Given the description of an element on the screen output the (x, y) to click on. 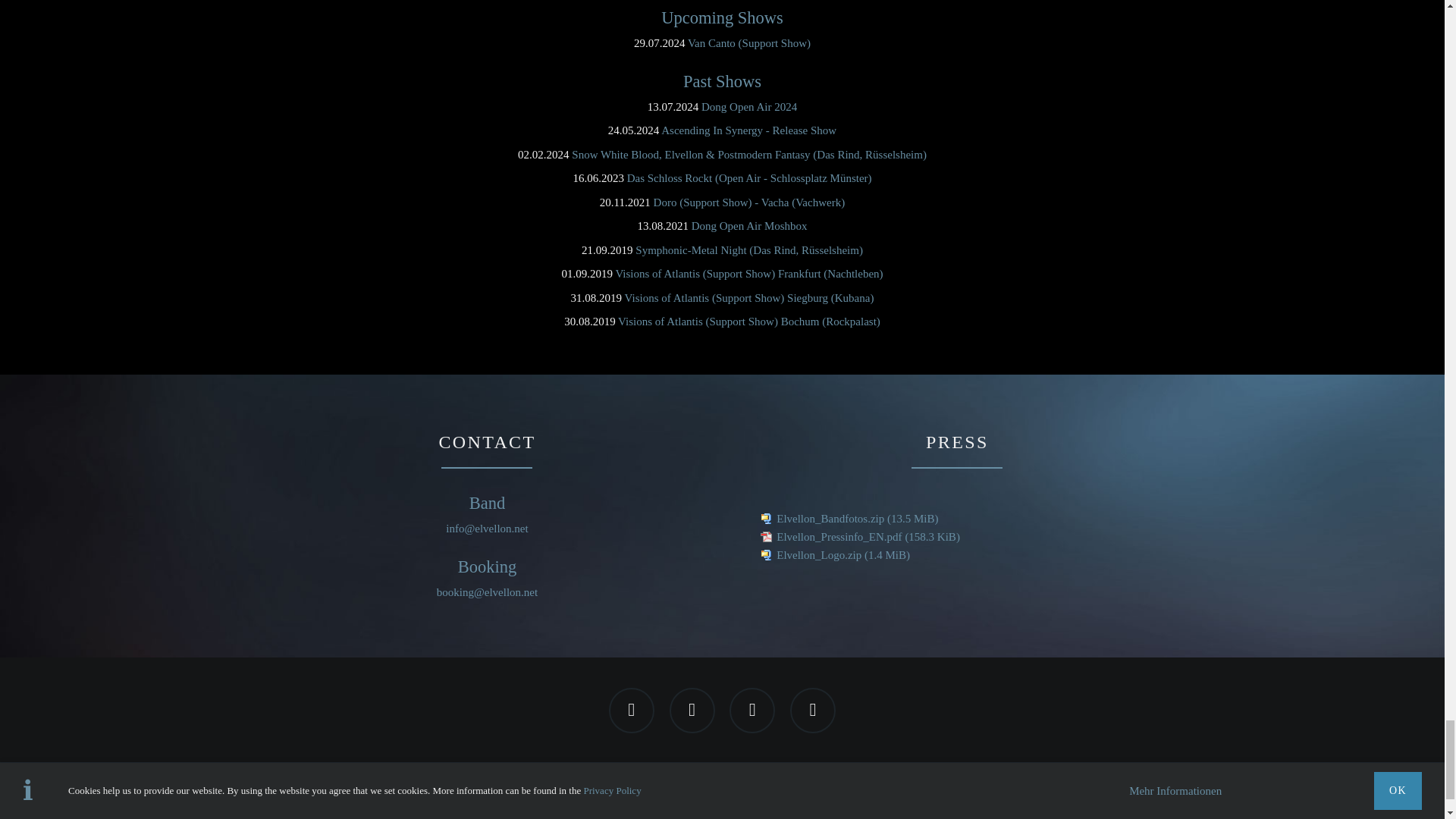
Elvellon - Official Website (722, 783)
Impressum (604, 808)
